Given the description of an element on the screen output the (x, y) to click on. 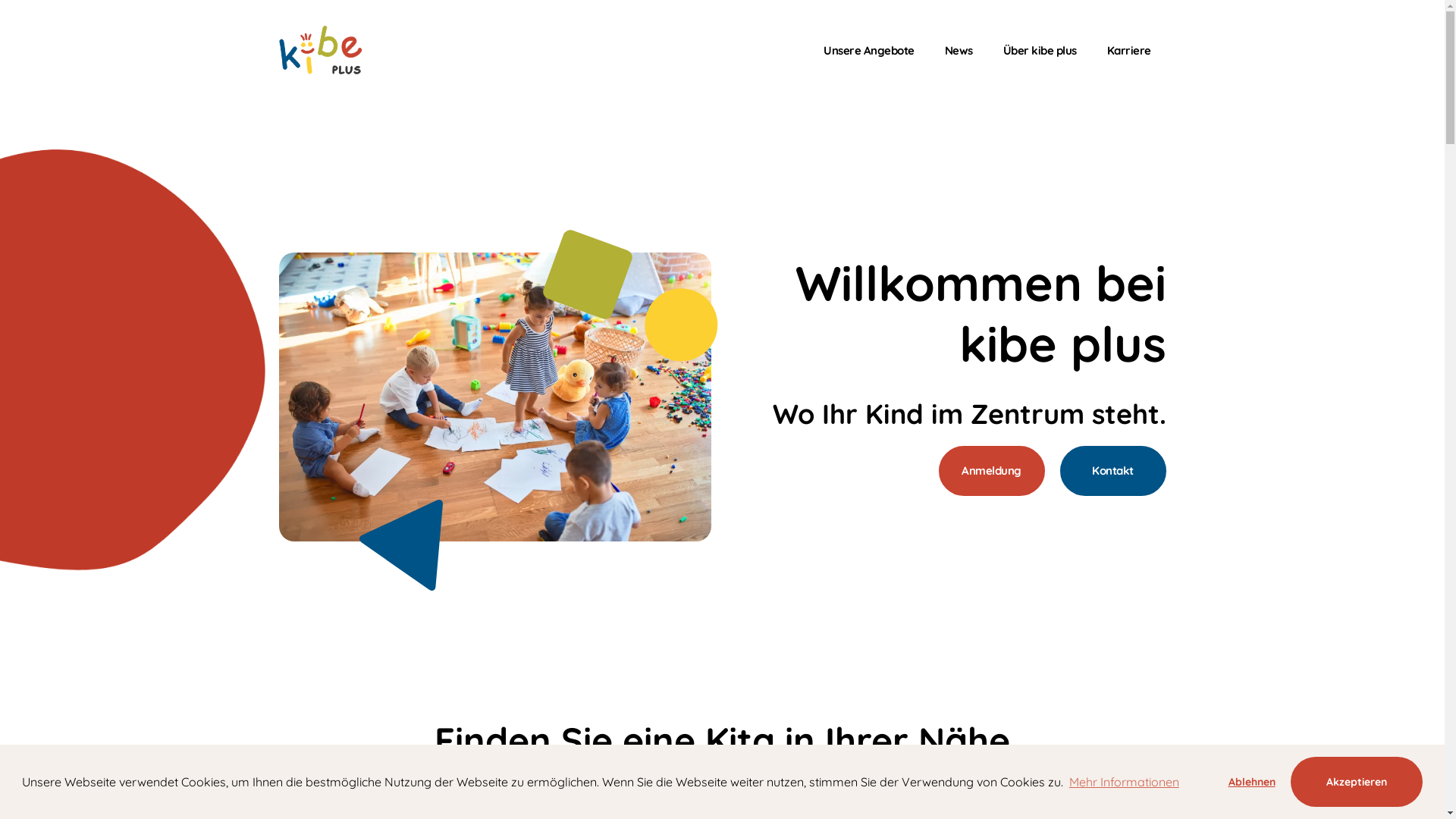
Karriere Element type: text (1129, 50)
Ablehnen Element type: text (1251, 781)
Mehr Informationen Element type: text (1124, 781)
Unsere Angebote Element type: text (868, 50)
Akzeptieren Element type: text (1356, 781)
News Element type: text (958, 50)
